Given the description of an element on the screen output the (x, y) to click on. 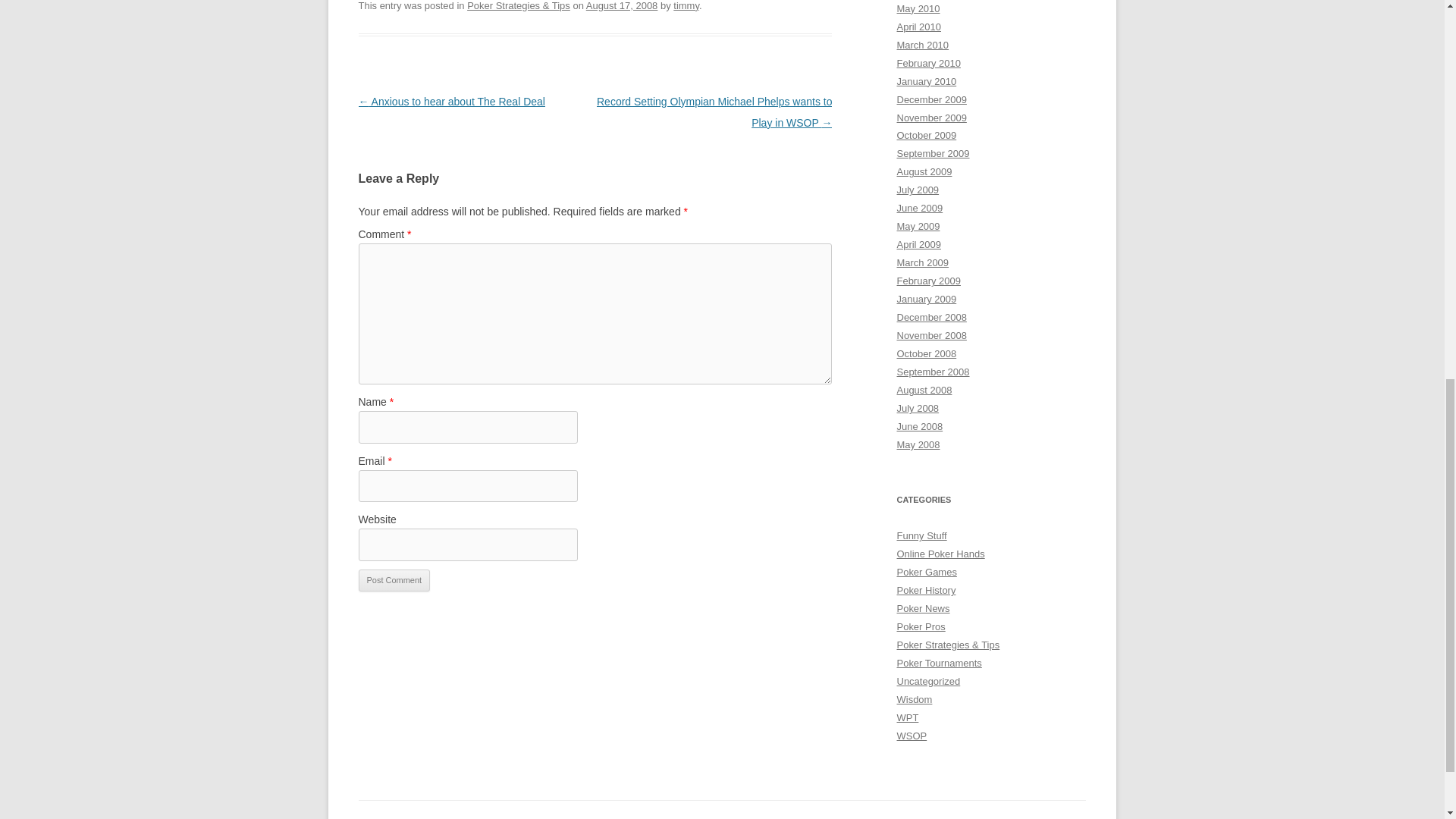
May 2010 (917, 8)
February 2010 (927, 62)
December 2009 (931, 99)
November 2009 (931, 116)
January 2010 (926, 81)
7:36 pm (622, 5)
Post Comment (393, 580)
timmy (685, 5)
Post Comment (393, 580)
View all posts by timmy (685, 5)
